Given the description of an element on the screen output the (x, y) to click on. 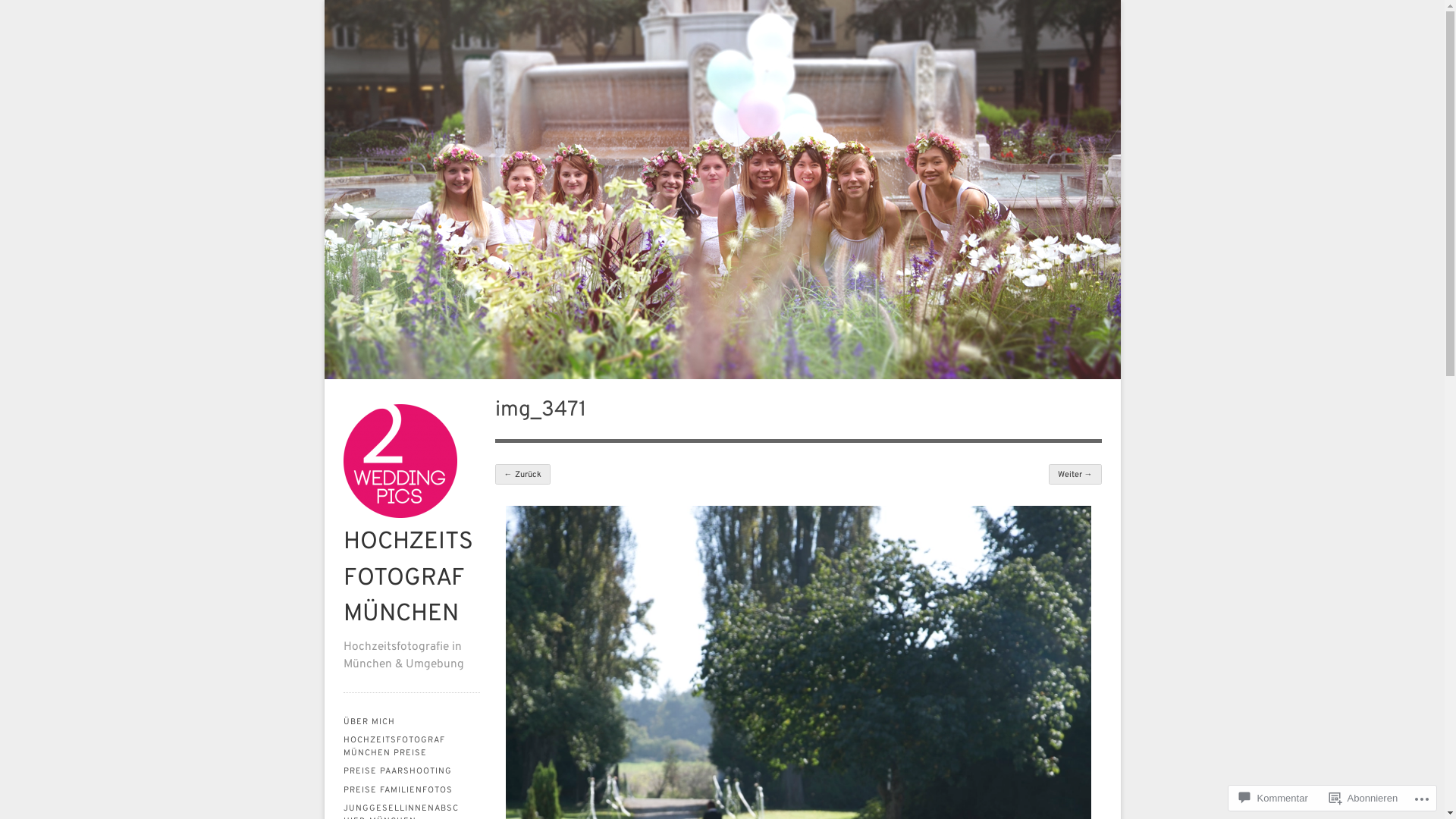
PREISE PAARSHOOTING Element type: text (410, 771)
Kommentar Element type: text (1273, 797)
Abonnieren Element type: text (1363, 797)
PREISE FAMILIENFOTOS Element type: text (410, 790)
